Given the description of an element on the screen output the (x, y) to click on. 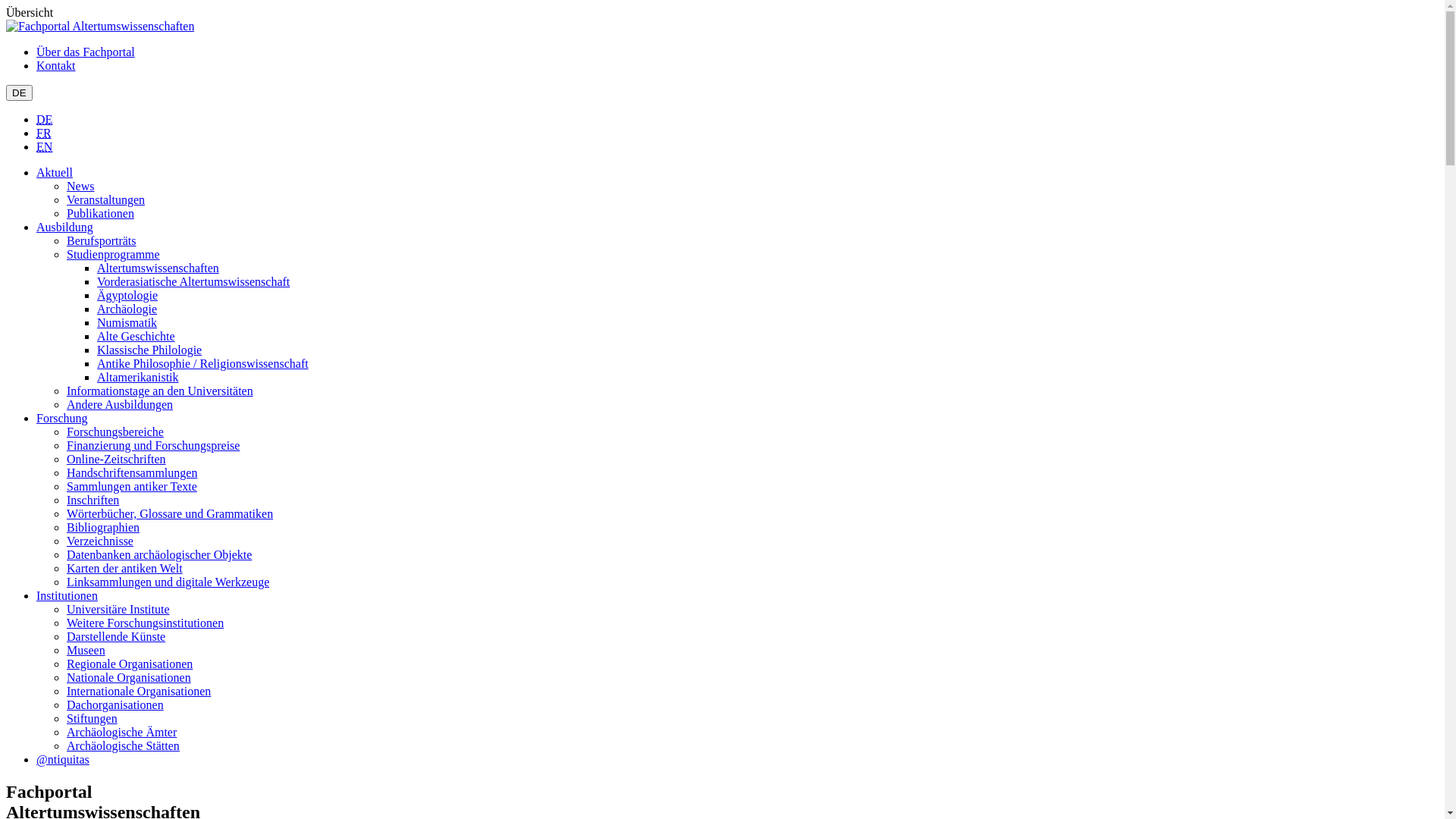
Andere Ausbildungen Element type: text (119, 404)
Forschung Element type: text (61, 417)
Alte Geschichte Element type: text (136, 335)
Publikationen Element type: text (100, 213)
Institutionen Element type: text (66, 595)
FR Element type: text (43, 132)
Veranstaltungen Element type: text (105, 199)
Klassische Philologie Element type: text (149, 349)
Aktuell Element type: text (54, 172)
Home Element type: hover (100, 25)
EN Element type: text (44, 146)
Linksammlungen und digitale Werkzeuge Element type: text (167, 581)
Kontakt Element type: text (55, 65)
@ntiquitas Element type: text (62, 759)
Inschriften Element type: text (92, 499)
DE Element type: text (44, 118)
Altertumswissenschaften Element type: text (158, 267)
Sammlungen antiker Texte Element type: text (131, 486)
Antike Philosophie / Religionswissenschaft Element type: text (202, 363)
Numismatik Element type: text (126, 322)
Internationale Organisationen Element type: text (138, 690)
Altamerikanistik Element type: text (137, 376)
Museen Element type: text (85, 649)
Finanzierung und Forschungspreise Element type: text (152, 445)
DE Element type: text (19, 92)
News Element type: text (80, 185)
Verzeichnisse Element type: text (99, 540)
Bibliographien Element type: text (102, 526)
Karten der antiken Welt Element type: text (124, 567)
Forschungsbereiche Element type: text (114, 431)
Ausbildung Element type: text (64, 226)
Dachorganisationen Element type: text (114, 704)
Handschriftensammlungen Element type: text (131, 472)
Regionale Organisationen Element type: text (129, 663)
Studienprogramme Element type: text (113, 253)
Vorderasiatische Altertumswissenschaft Element type: text (193, 281)
Weitere Forschungsinstitutionen Element type: text (144, 622)
Online-Zeitschriften Element type: text (116, 458)
Nationale Organisationen Element type: text (128, 677)
Stiftungen Element type: text (91, 718)
Fachportal Altertumswissenschaften Element type: hover (100, 26)
